Given the description of an element on the screen output the (x, y) to click on. 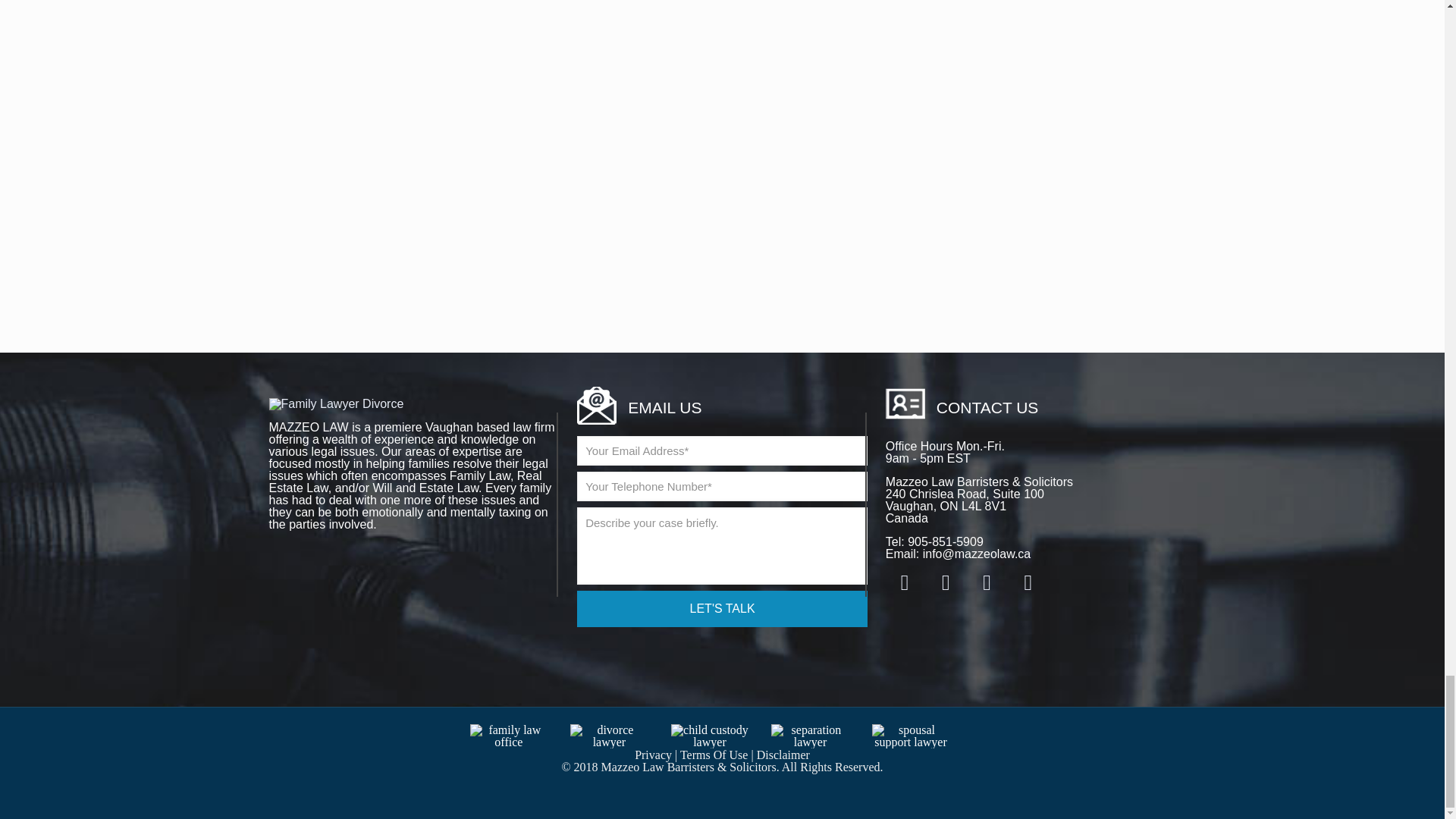
LET'S TALK (721, 608)
spousal support lawyer vaughan (911, 735)
Facebook (904, 585)
child custody lawyer vaughan (710, 735)
divorce lawyer vaughan (608, 735)
separation lawyer vaughan (809, 735)
family lawyer vaughan (509, 735)
